Given the description of an element on the screen output the (x, y) to click on. 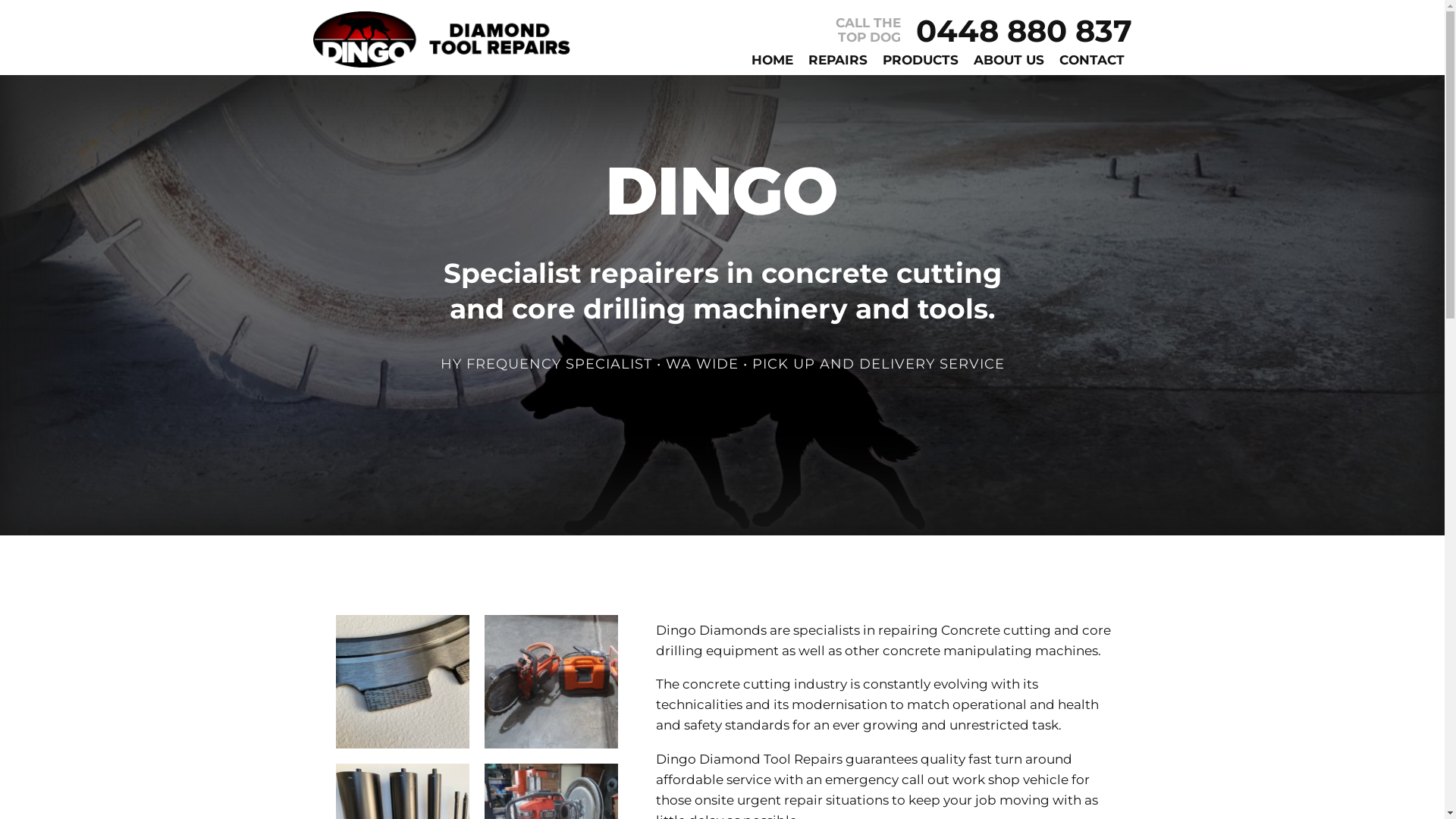
ABOUT US Element type: text (1008, 60)
0448 880 837 Element type: text (1024, 30)
HOME Element type: text (771, 60)
REPAIRS Element type: text (837, 60)
CONTACT Element type: text (1091, 60)
PRODUCTS Element type: text (920, 60)
